Given the description of an element on the screen output the (x, y) to click on. 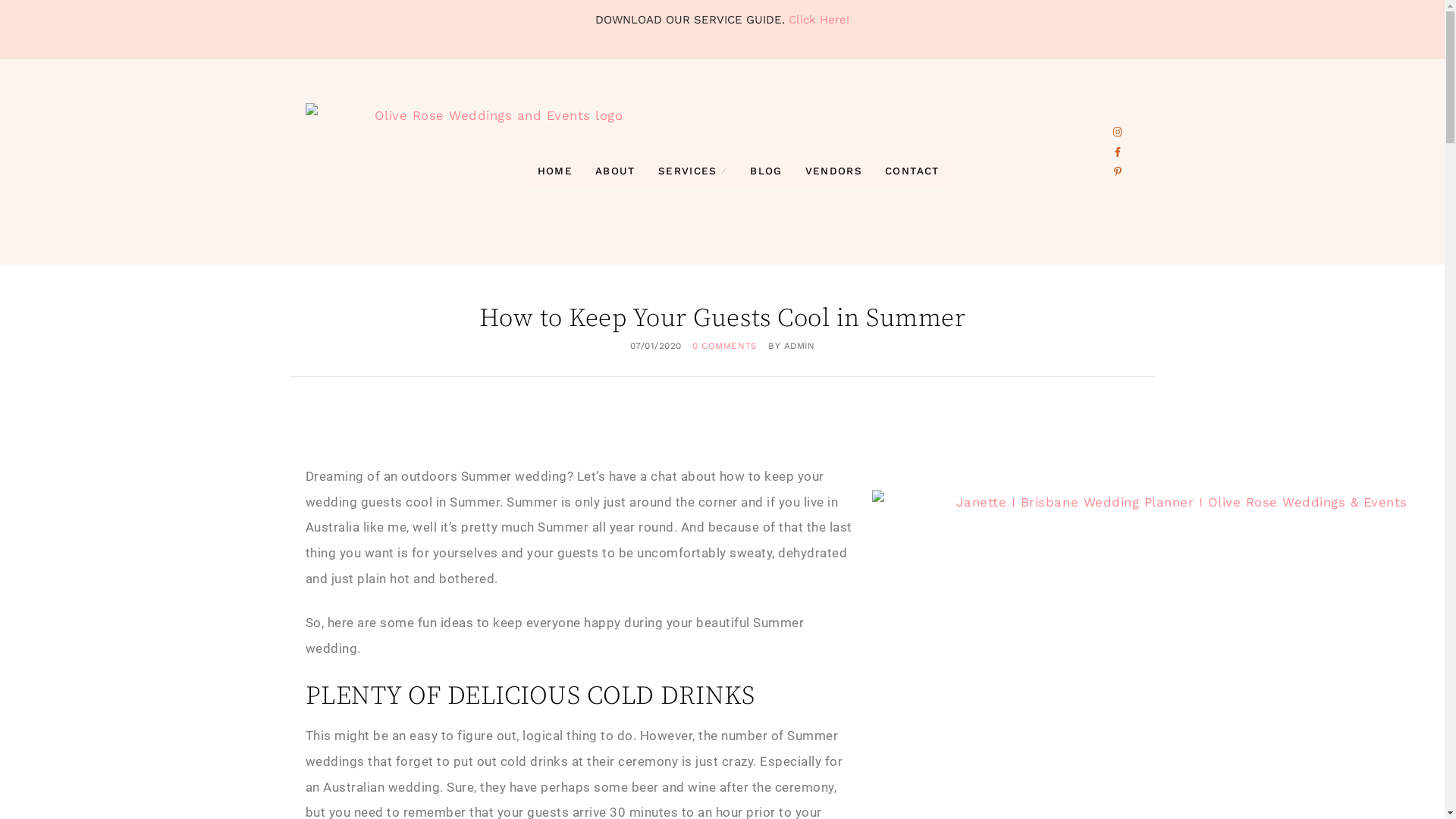
Click Here! Element type: text (818, 19)
ABOUT Element type: text (614, 170)
BLOG Element type: text (765, 170)
0 COMMENTS Element type: text (724, 345)
HOME Element type: text (554, 170)
VENDORS Element type: text (833, 170)
CONTACT Element type: text (911, 170)
How to Keep Your Guests Cool in Summer Element type: text (722, 318)
SERVICES Element type: text (692, 170)
